Given the description of an element on the screen output the (x, y) to click on. 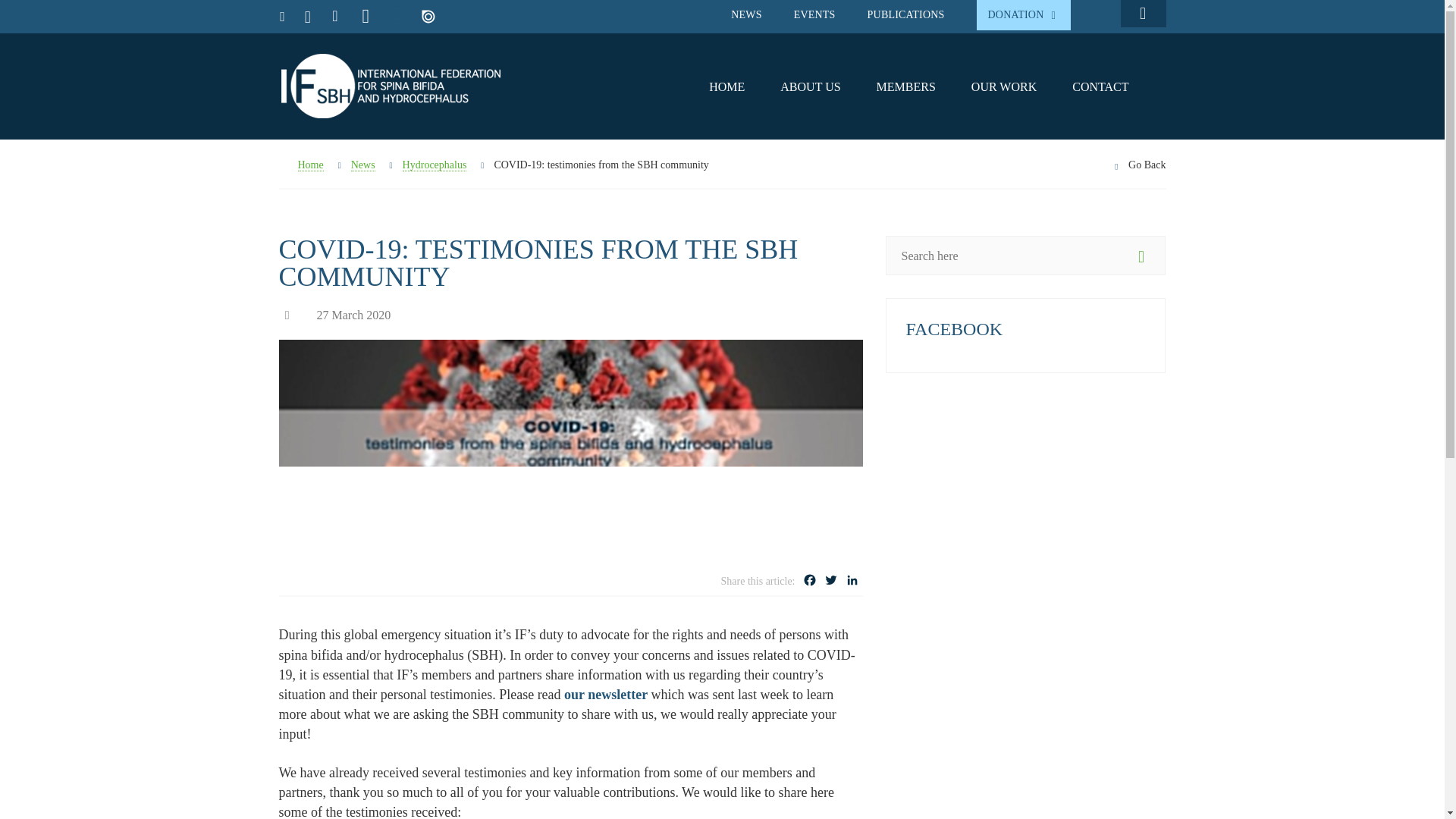
Go to Home. (301, 164)
Search (1142, 15)
Facebook (810, 582)
ABOUT US (810, 86)
Twitter (831, 582)
Facebook (810, 582)
LinkedIn (852, 582)
Go to the Hydrocephalus News Categories archives. (435, 164)
EVENTS (814, 14)
Youtube (365, 16)
